Given the description of an element on the screen output the (x, y) to click on. 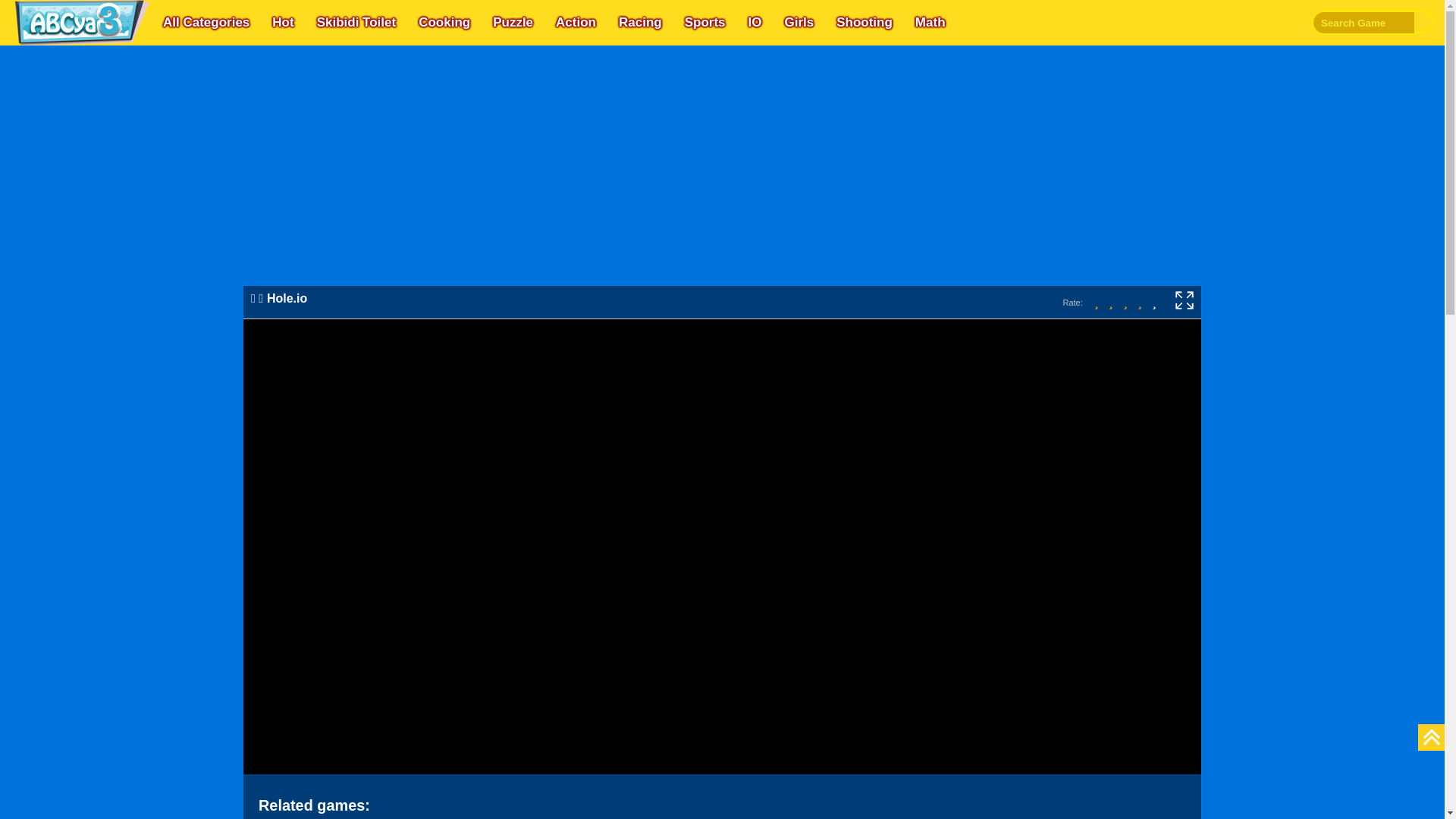
Shooting (863, 22)
Cooking (443, 22)
All Categories (206, 22)
Girls (798, 22)
Advertisement (113, 380)
Hot (282, 22)
Racing (640, 22)
Advertisement (721, 185)
Skibidi Toilet (356, 22)
